Given the description of an element on the screen output the (x, y) to click on. 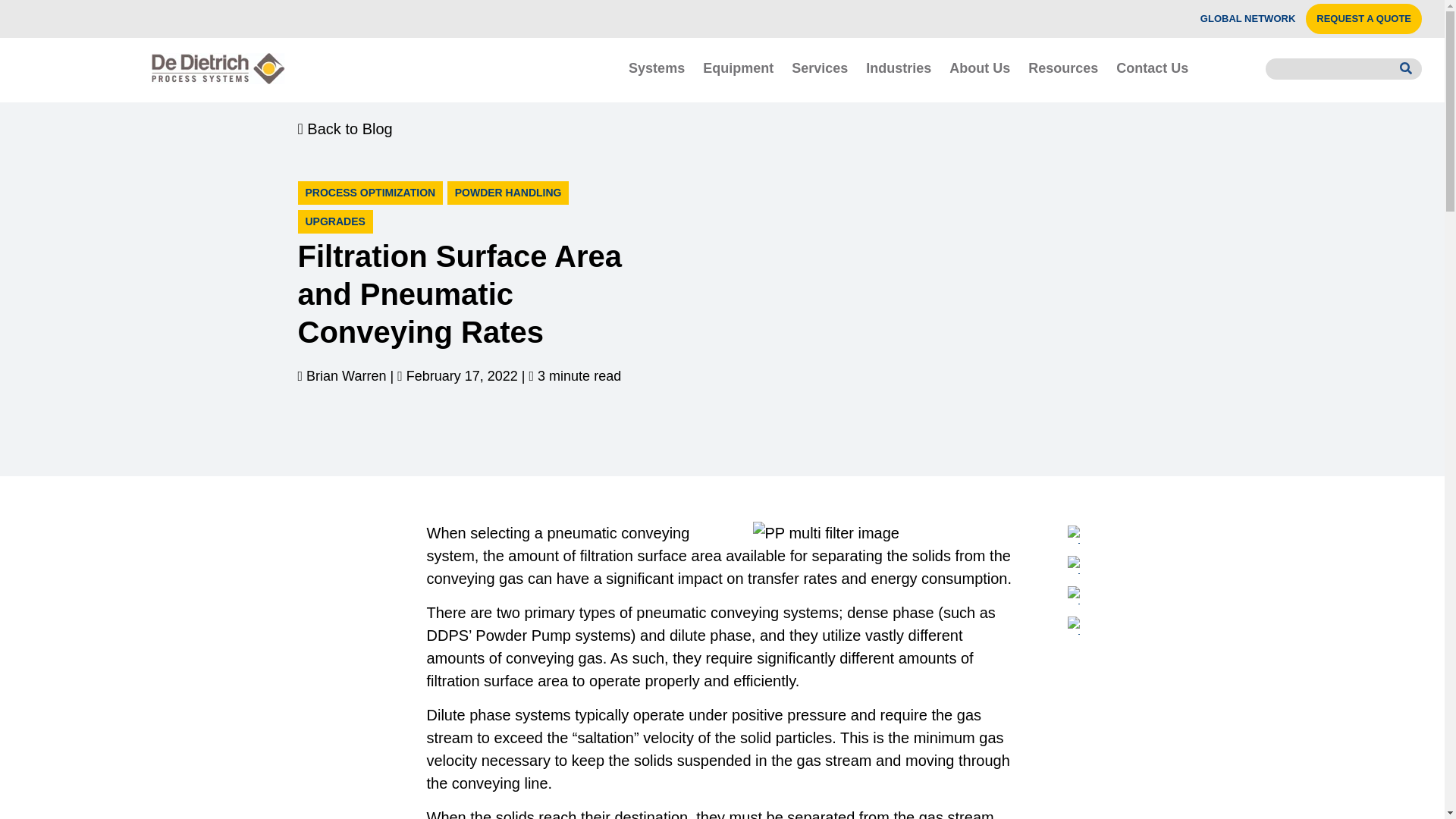
Equipment (738, 67)
ddps-logo-md (218, 68)
Systems (657, 67)
GLOBAL NETWORK (1247, 19)
REQUEST A QUOTE (1364, 19)
